Given the description of an element on the screen output the (x, y) to click on. 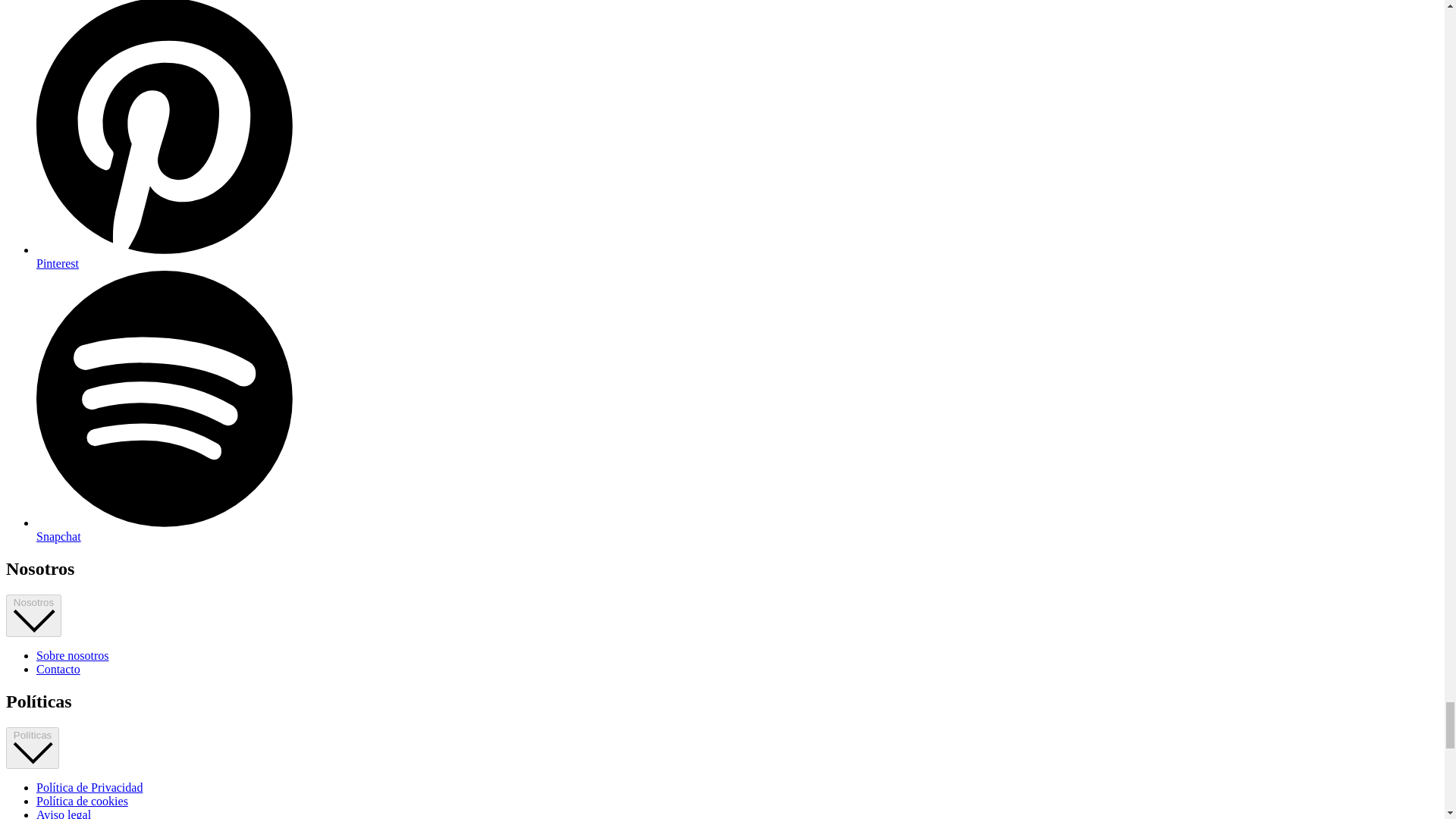
Rue Vintage 74 en Pinterest (164, 256)
Rue Vintage 74 en Snapchat (164, 529)
